Given the description of an element on the screen output the (x, y) to click on. 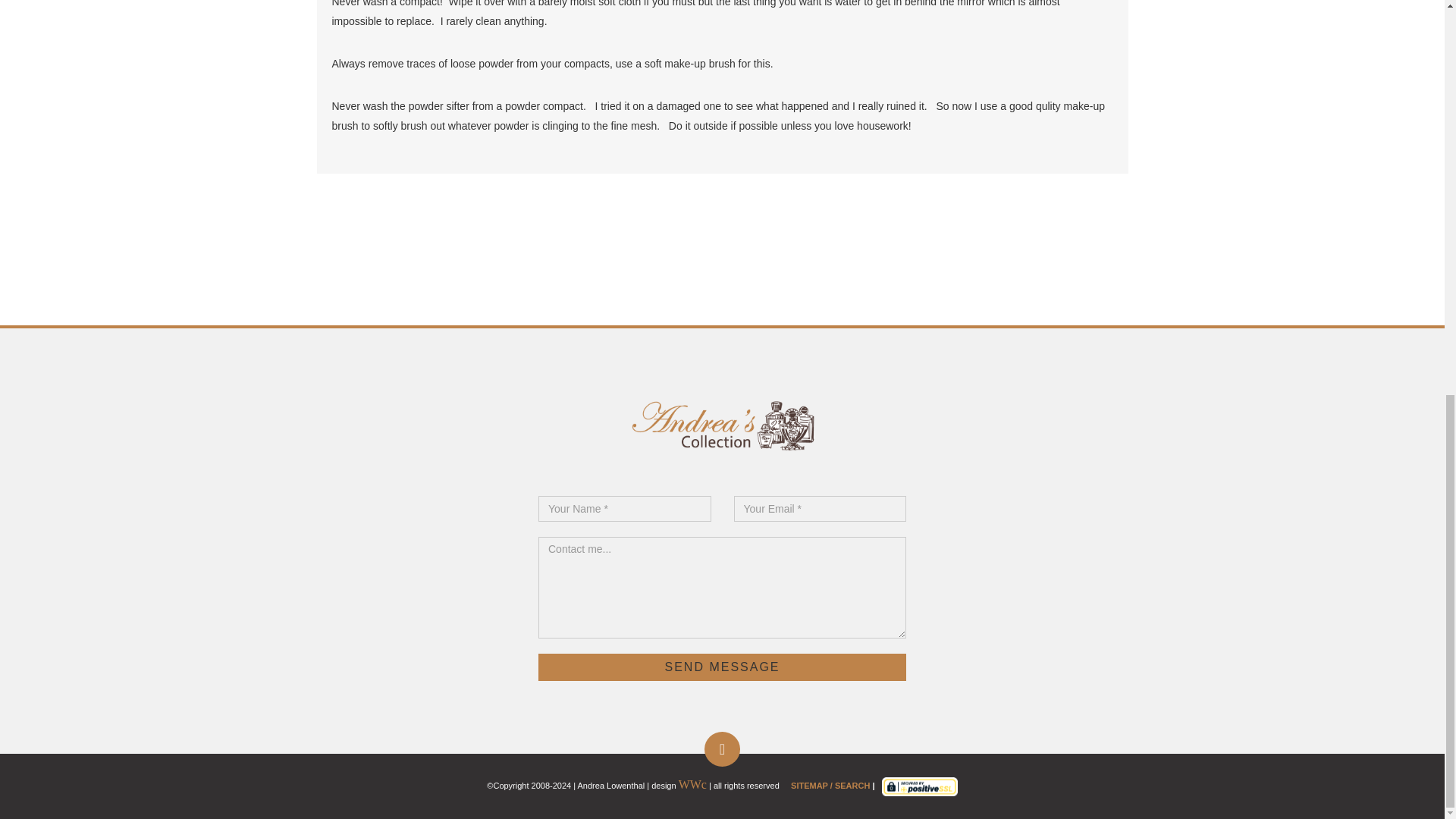
Sectigo secure (920, 786)
Are your WordsWorth communicating? (692, 785)
